Given the description of an element on the screen output the (x, y) to click on. 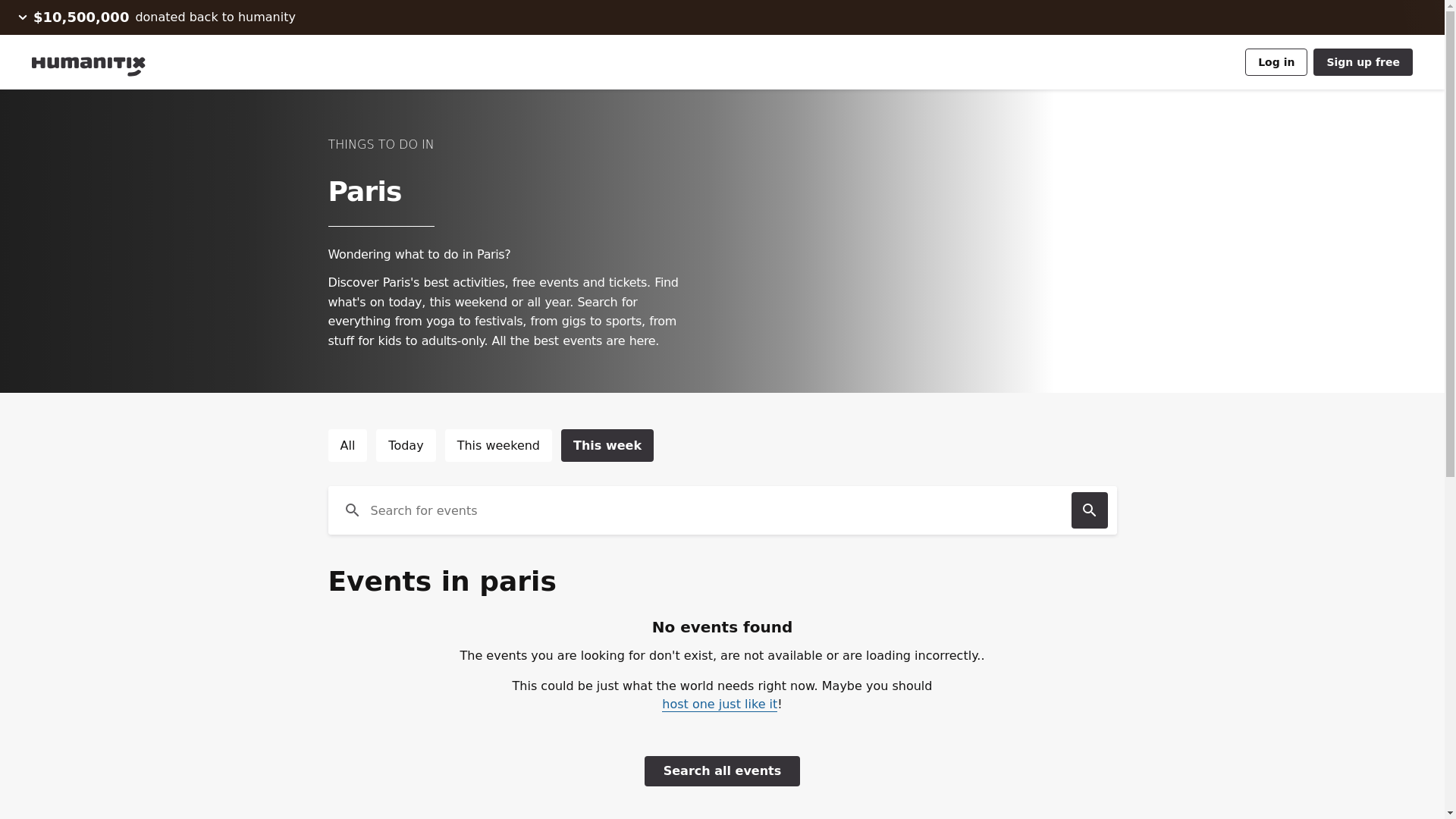
Search events (1088, 510)
This week (606, 445)
host one just like it (719, 703)
Log in (1275, 62)
Sign up free (1362, 62)
This weekend (498, 445)
Home (102, 61)
All (346, 445)
Search all events (722, 770)
Today (405, 445)
